Given the description of an element on the screen output the (x, y) to click on. 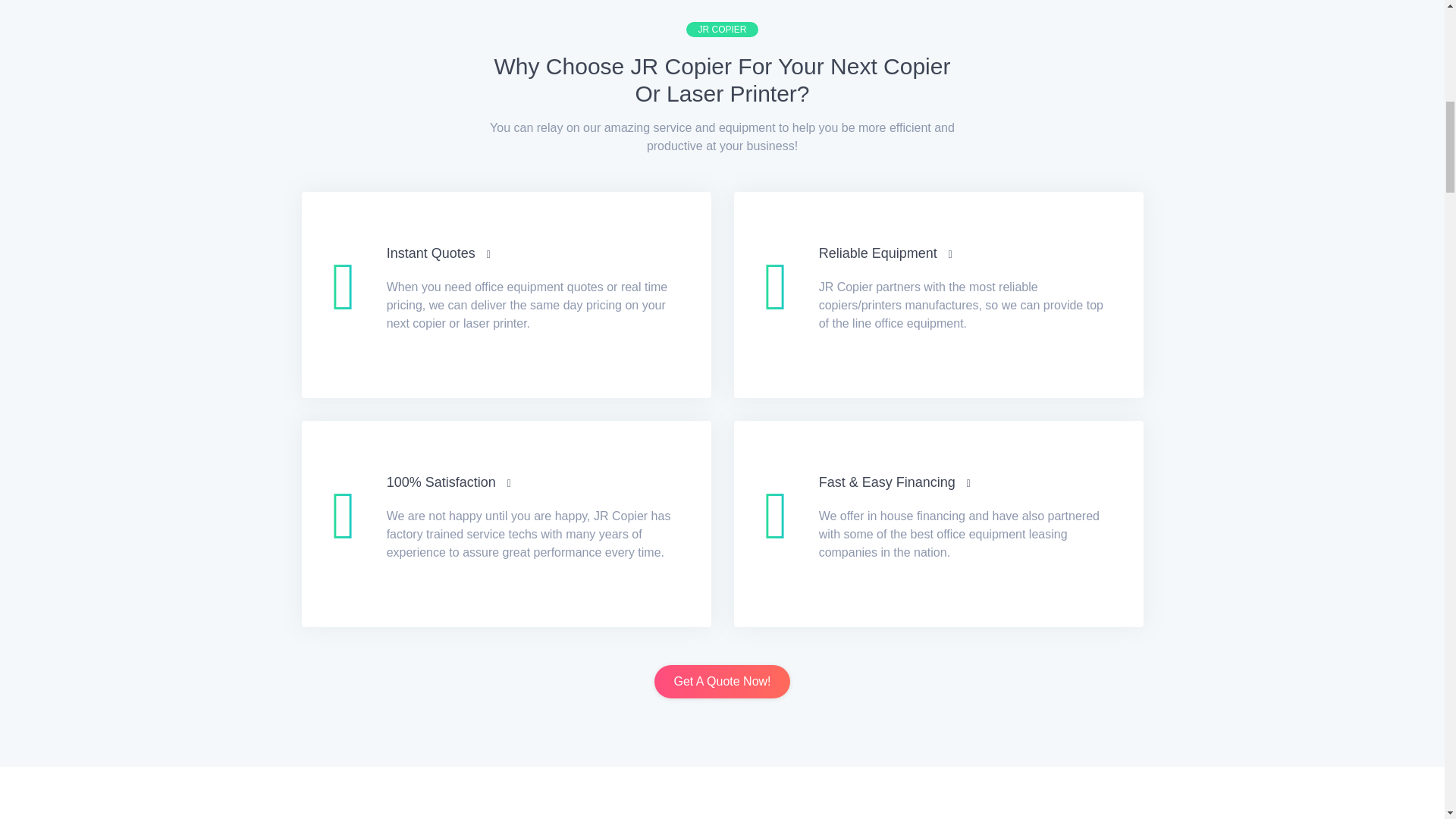
Instant Quotes (438, 253)
Get A Quote Now! (721, 681)
Reliable Equipment (885, 253)
